Given the description of an element on the screen output the (x, y) to click on. 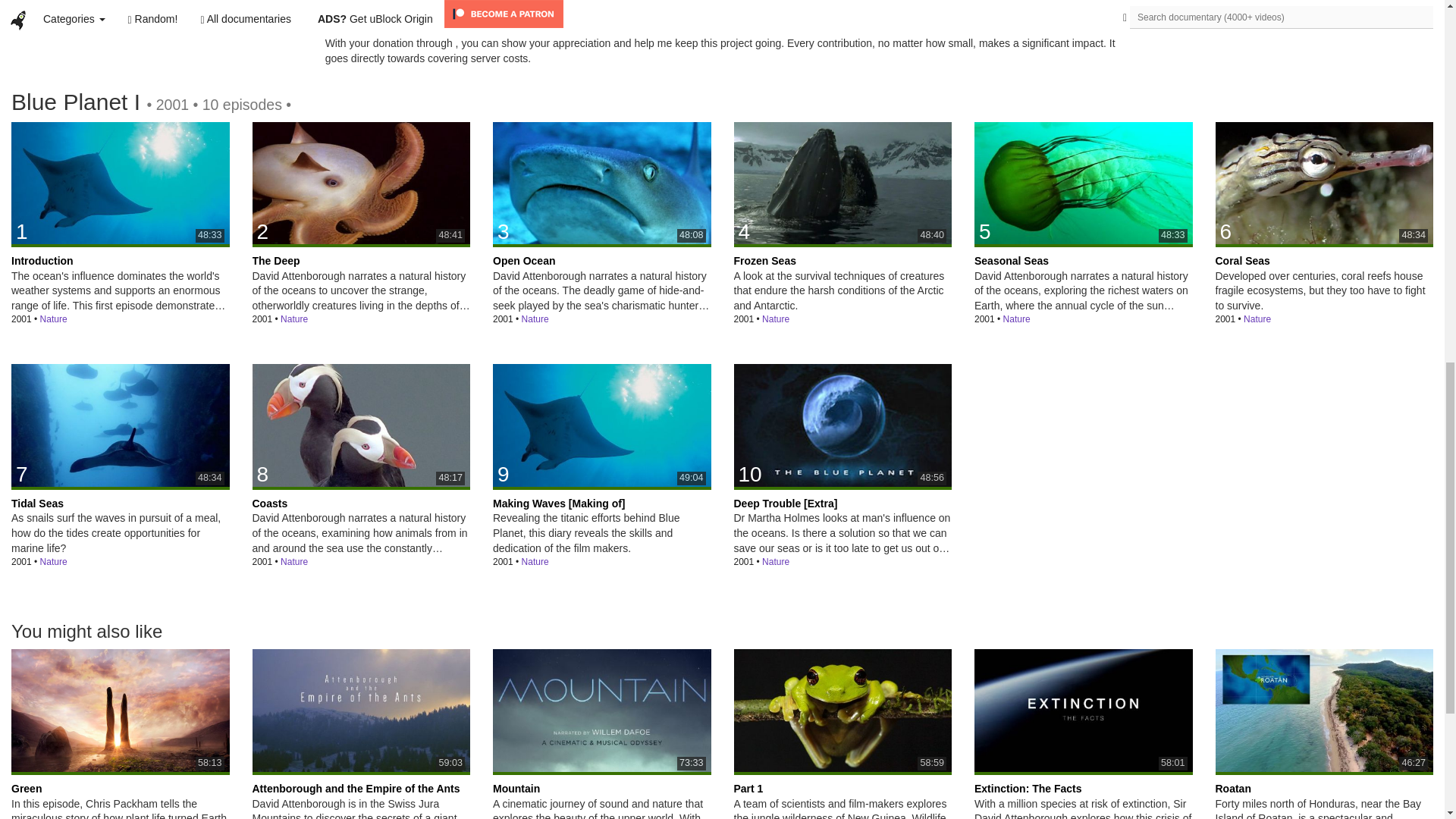
Nature (53, 318)
Open Ocean (842, 183)
Nature (602, 183)
Nature (294, 318)
Nature (775, 318)
The Deep (360, 183)
Nature (53, 318)
Nature (360, 183)
Seasonal Seas (1016, 318)
Nature (534, 318)
Frozen Seas (1083, 183)
